Given the description of an element on the screen output the (x, y) to click on. 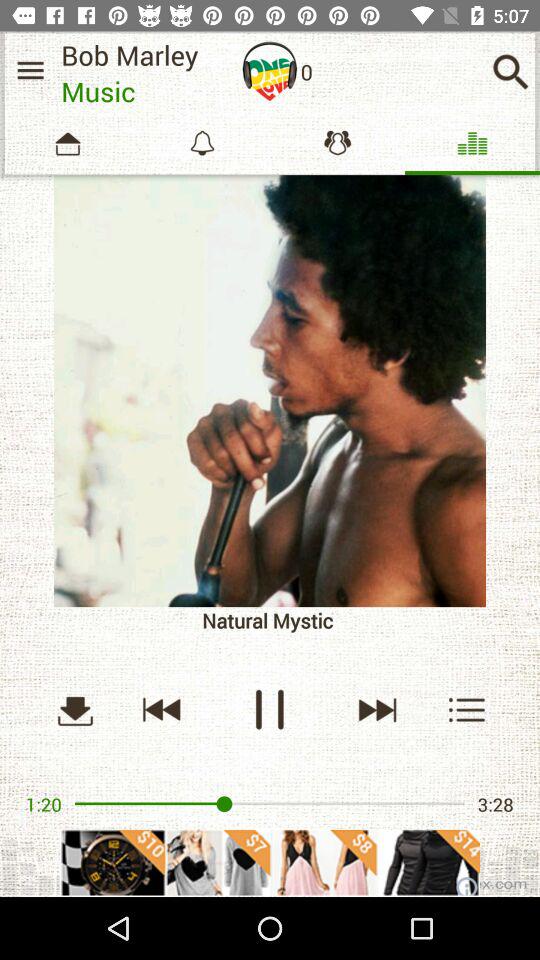
search option (510, 71)
